Given the description of an element on the screen output the (x, y) to click on. 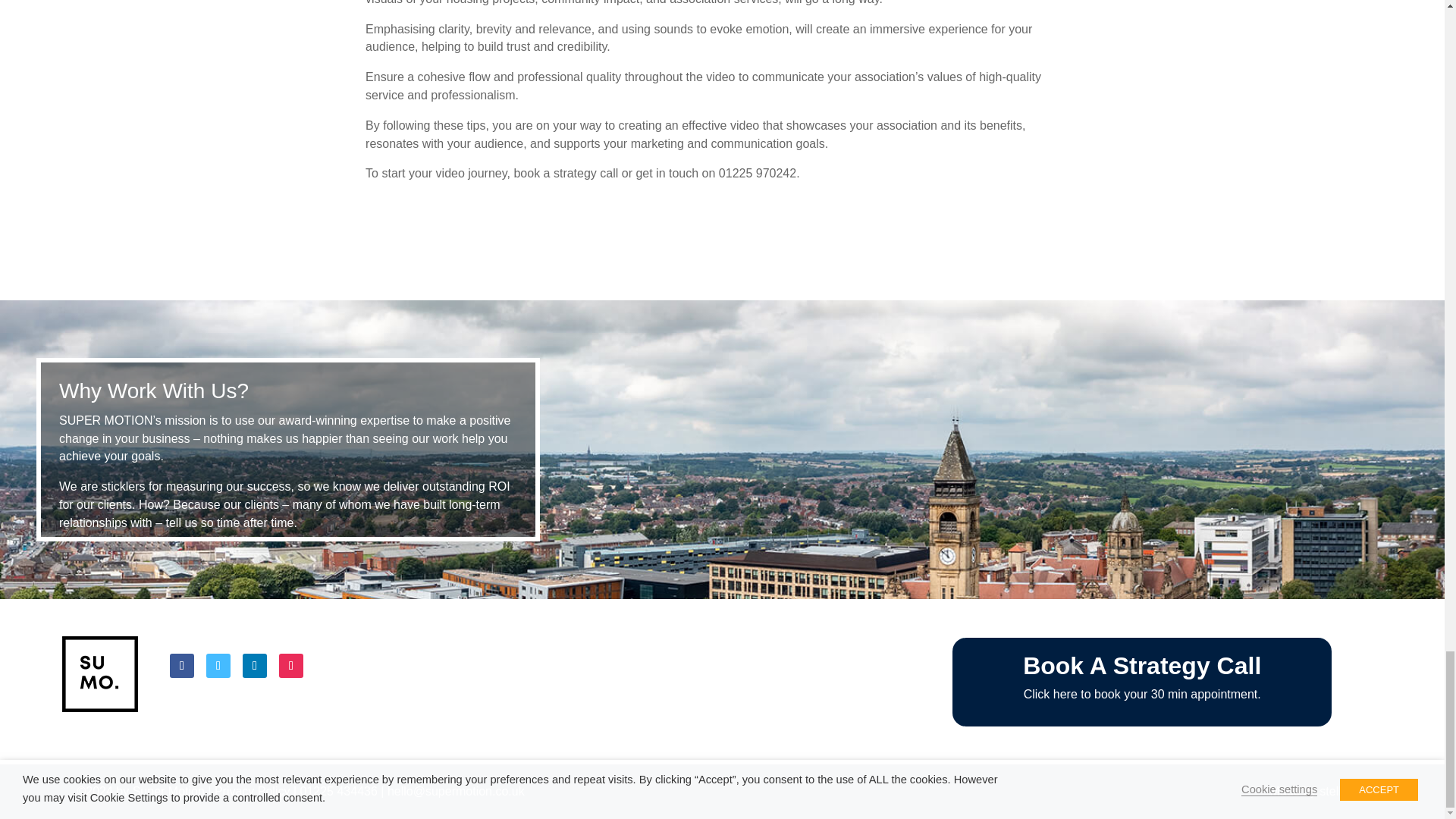
Privacy Policy (251, 790)
Follow on Instagram (290, 665)
Follow on LinkedIn (254, 665)
Follow on Facebook (181, 665)
1 (100, 673)
Follow on Vimeo (218, 665)
